Given the description of an element on the screen output the (x, y) to click on. 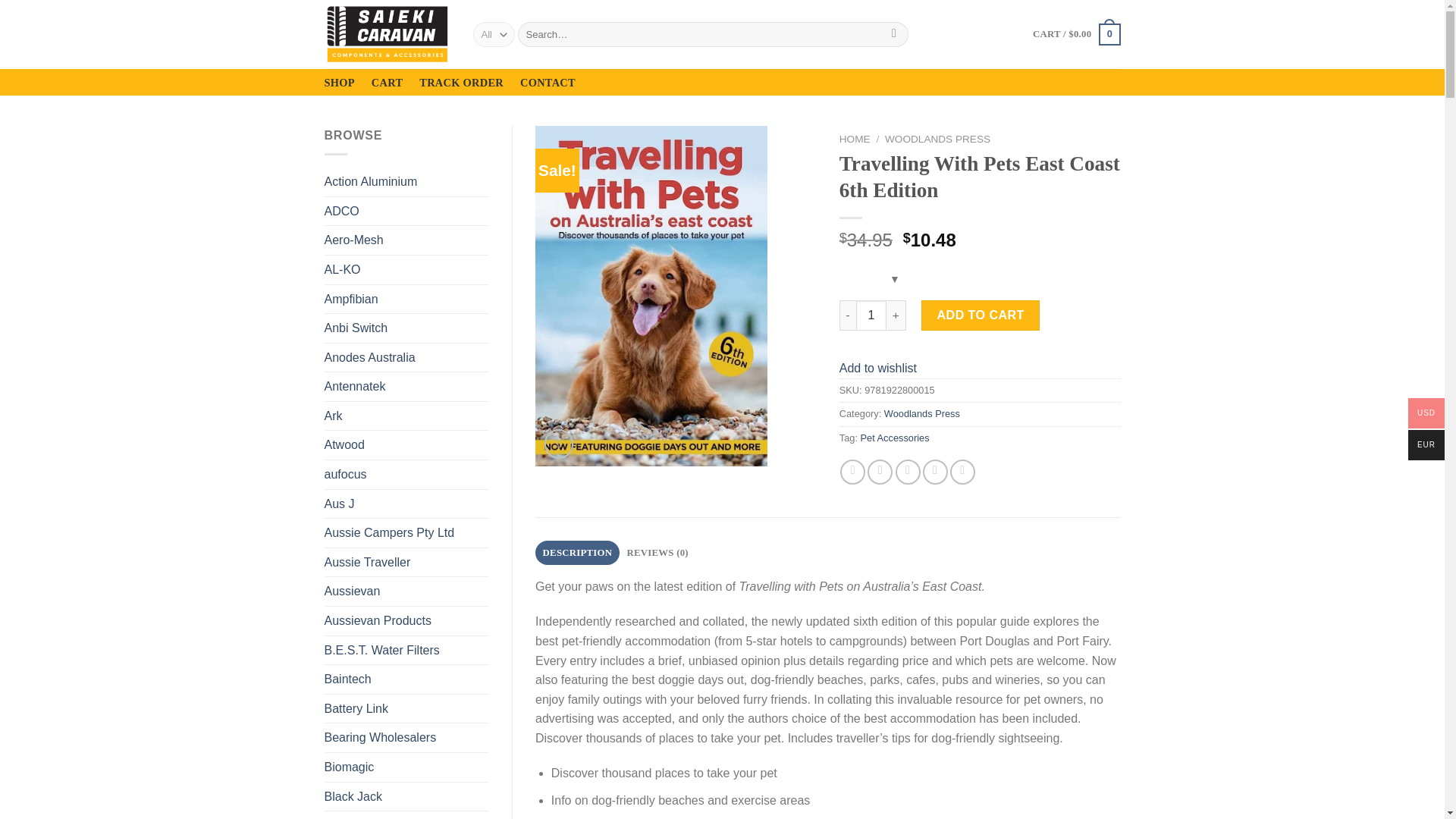
Ampfibian (406, 299)
ADCO (406, 211)
Action Aluminium (406, 181)
AL-KO (406, 269)
Search (892, 34)
Aero-Mesh (406, 240)
CONTACT (547, 82)
Qty (871, 315)
Anodes Australia (406, 357)
SHOP (339, 82)
